Given the description of an element on the screen output the (x, y) to click on. 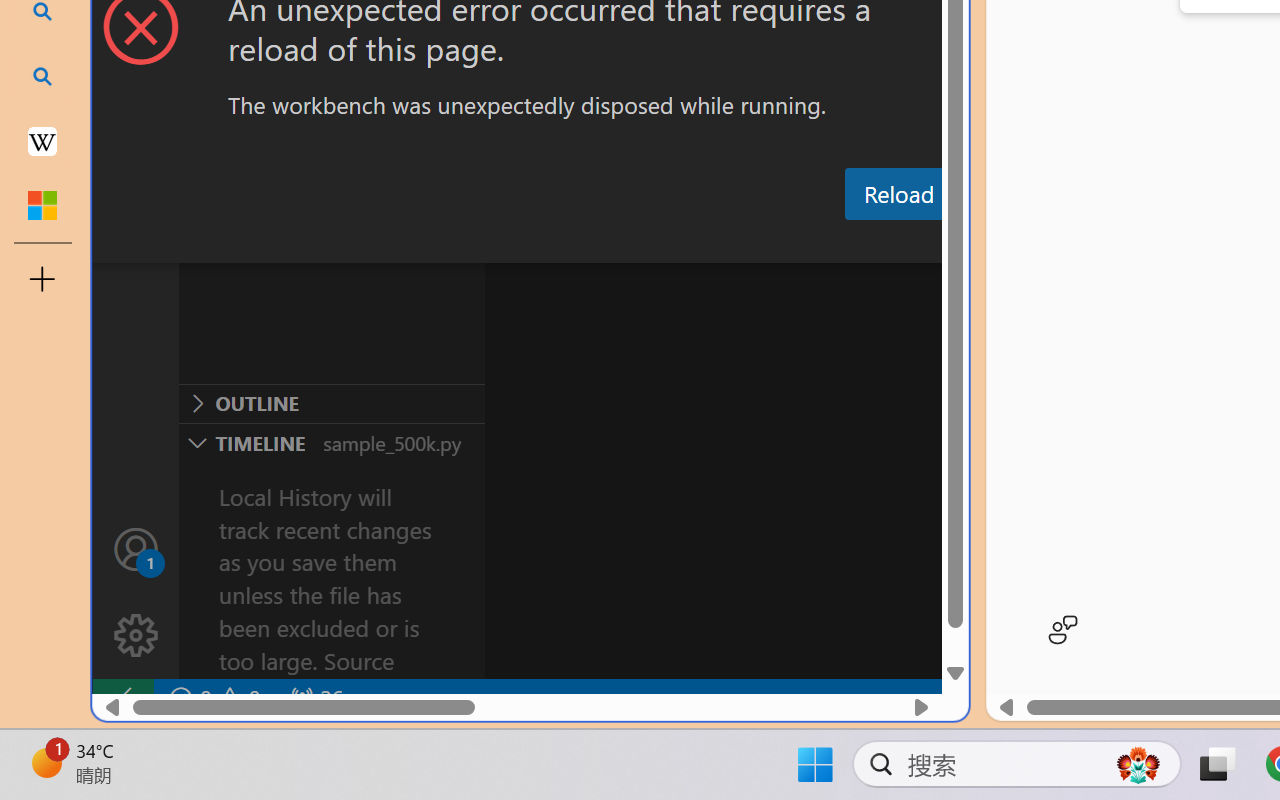
Timeline Section (331, 442)
remote (122, 698)
Problems (Ctrl+Shift+M) (567, 243)
Debug Console (Ctrl+Shift+Y) (854, 243)
Terminal (Ctrl+`) (1021, 243)
Manage (135, 635)
Output (Ctrl+Shift+U) (696, 243)
Accounts - Sign in requested (135, 548)
Earth - Wikipedia (42, 140)
